Given the description of an element on the screen output the (x, y) to click on. 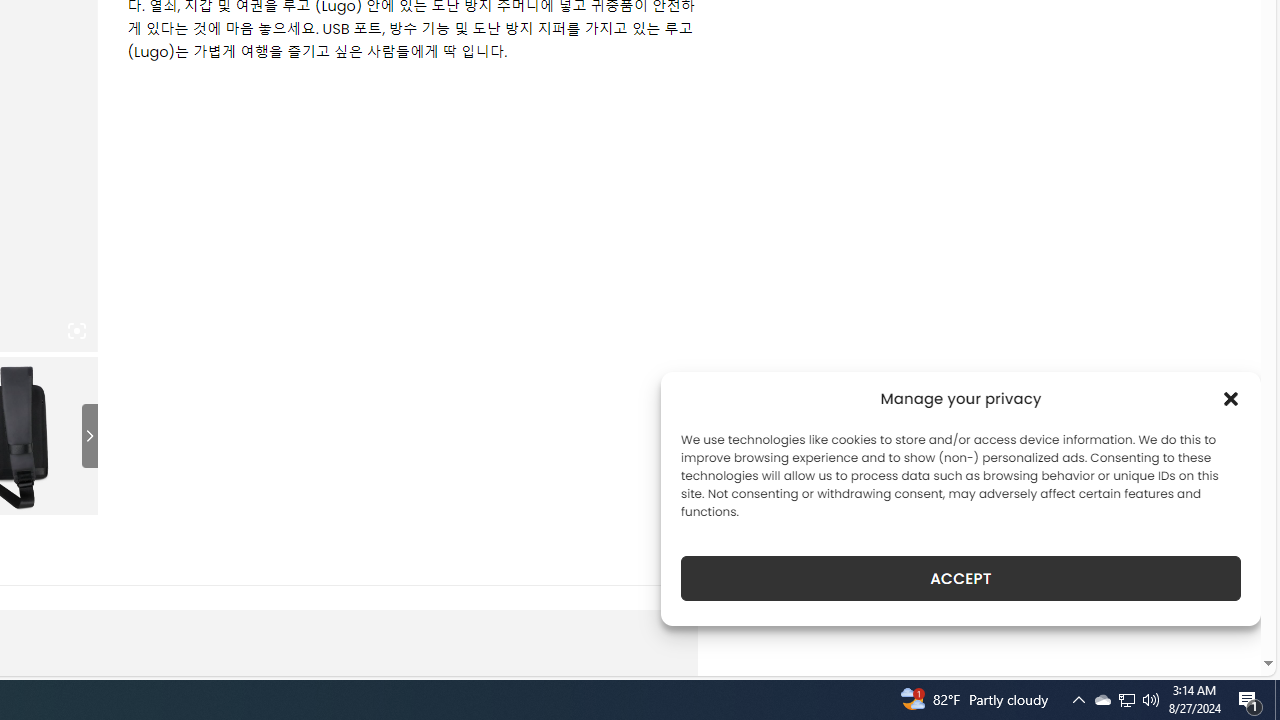
Class: cmplz-close (1231, 398)
ACCEPT (960, 578)
Class: iconic-woothumbs-fullscreen (75, 331)
